Given the description of an element on the screen output the (x, y) to click on. 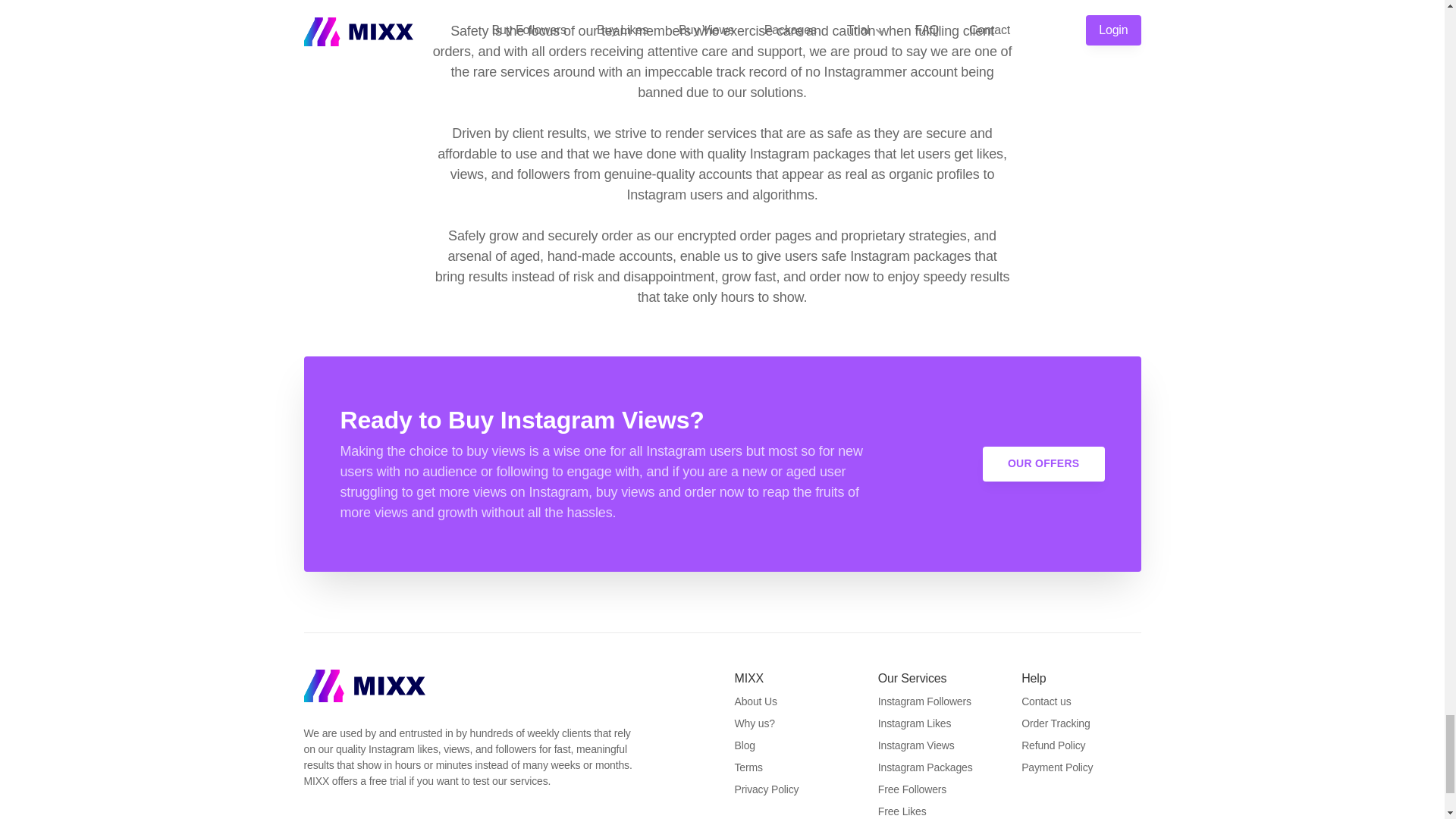
Terms (747, 767)
Blog (743, 745)
About Us (754, 701)
Privacy Policy (765, 788)
OUR OFFERS (1043, 463)
Why us? (753, 723)
